Given the description of an element on the screen output the (x, y) to click on. 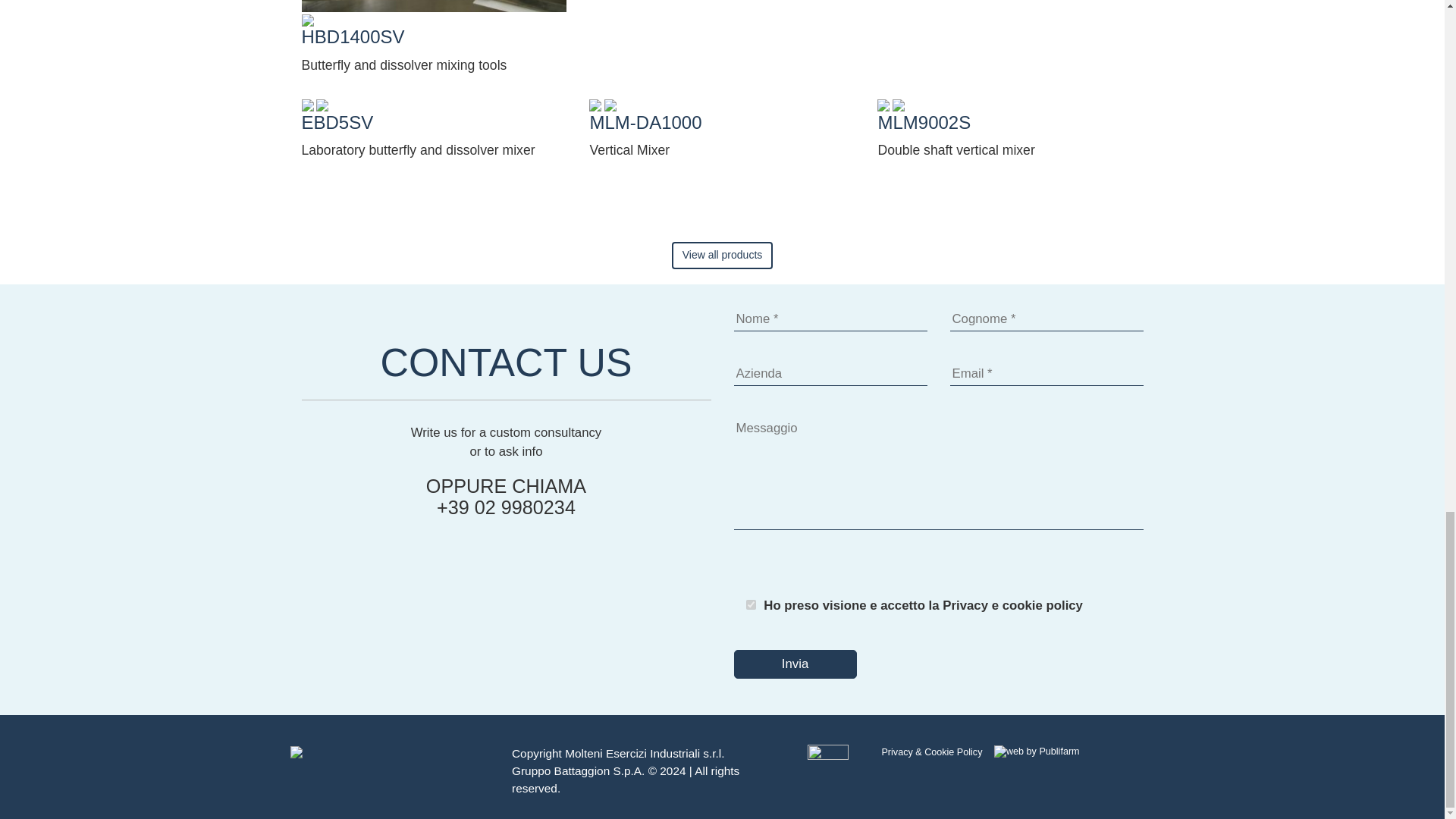
Invia (795, 664)
View all products (722, 255)
Privacy e cookie policy (1012, 605)
1 (750, 604)
Invia (795, 664)
